Given the description of an element on the screen output the (x, y) to click on. 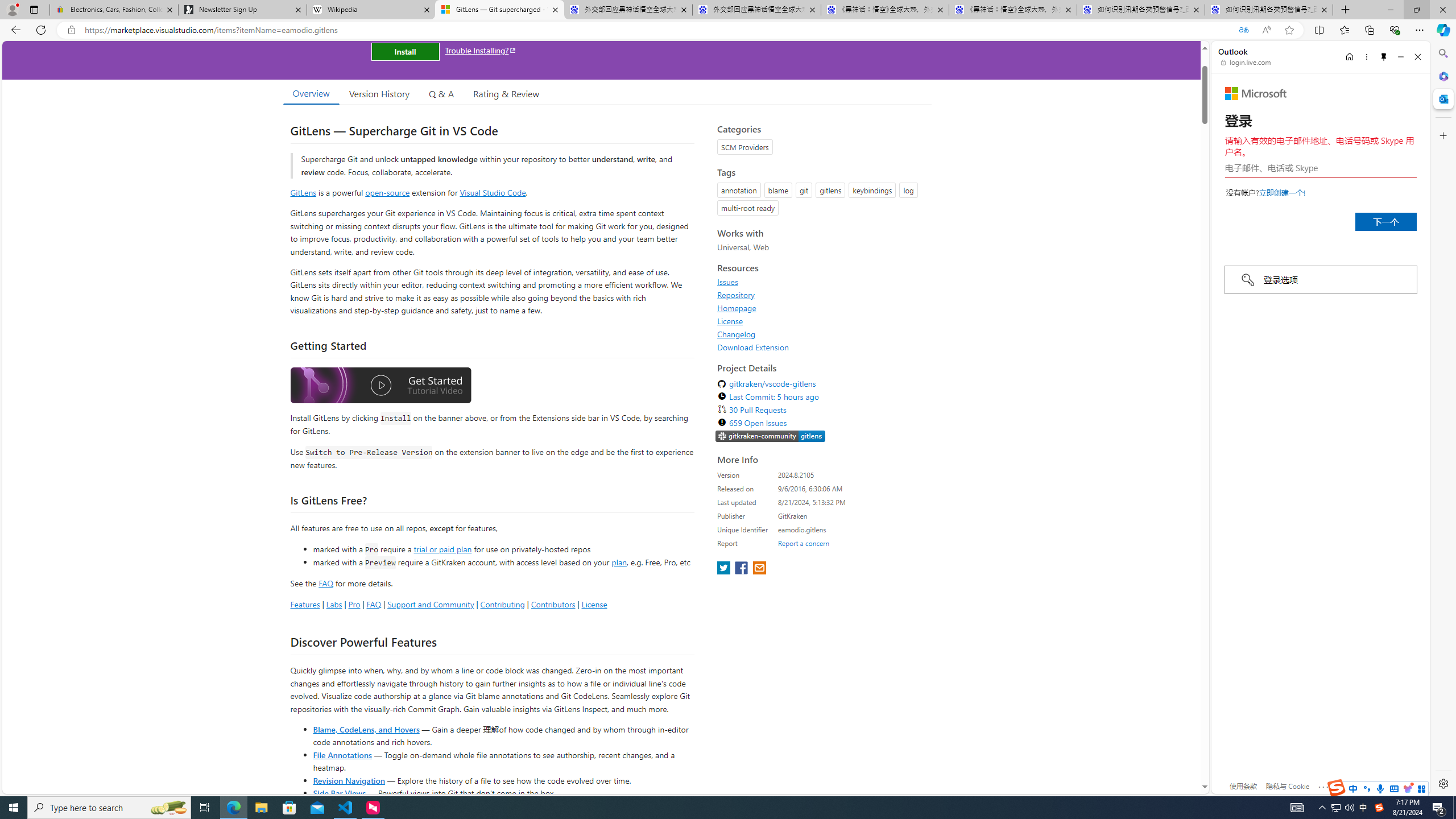
License (820, 320)
Side Bar Views (339, 792)
share extension on email (759, 568)
